Given the description of an element on the screen output the (x, y) to click on. 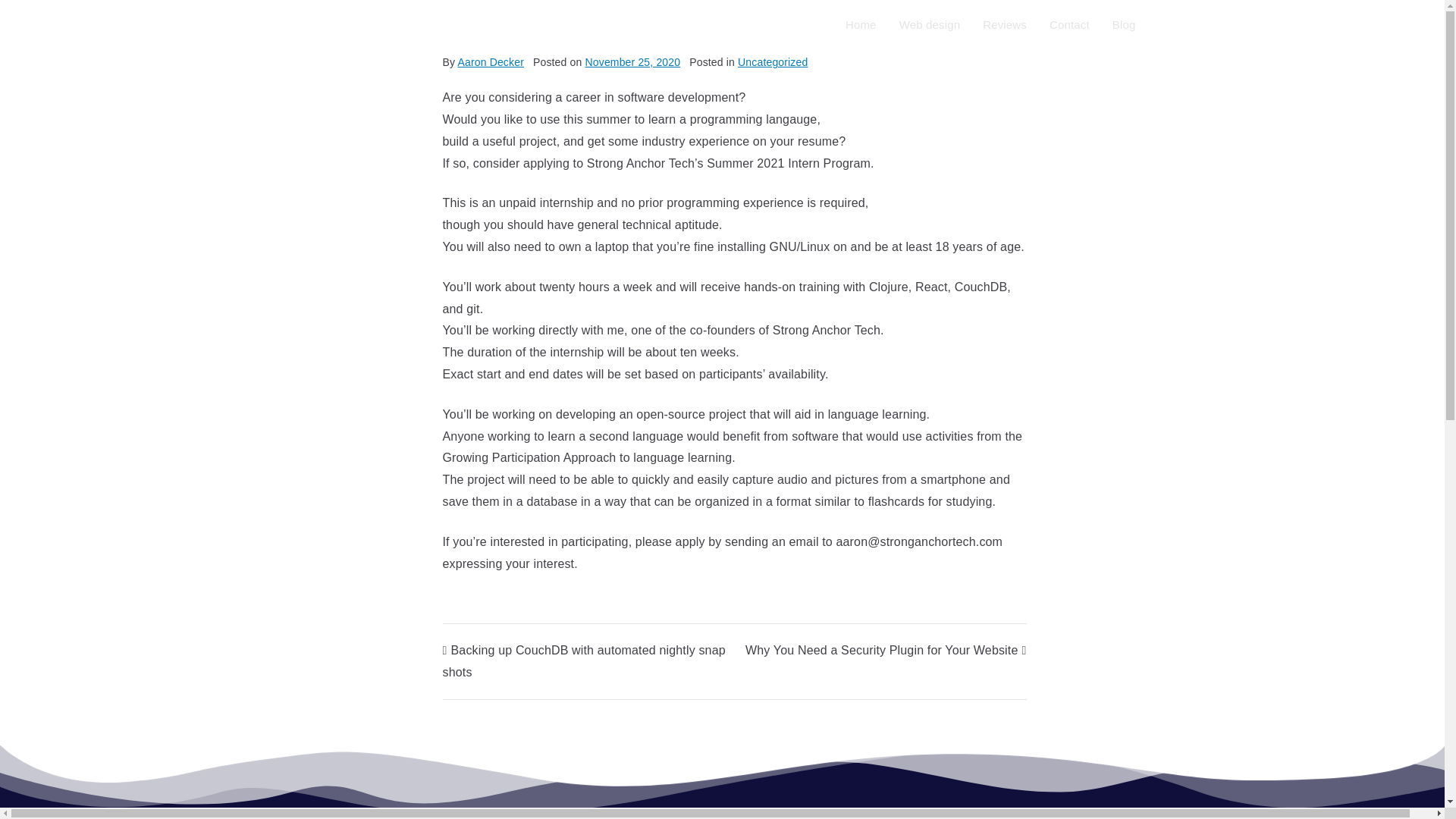
Aaron Decker (490, 61)
Uncategorized (773, 61)
November 25, 2020 (633, 61)
Backing up CouchDB with automated nightly snapshots (583, 661)
Web design (930, 24)
Blog (1123, 24)
Why You Need a Security Plugin for Your Website (885, 649)
Home (861, 24)
Contact (1069, 24)
Reviews (1004, 24)
